Given the description of an element on the screen output the (x, y) to click on. 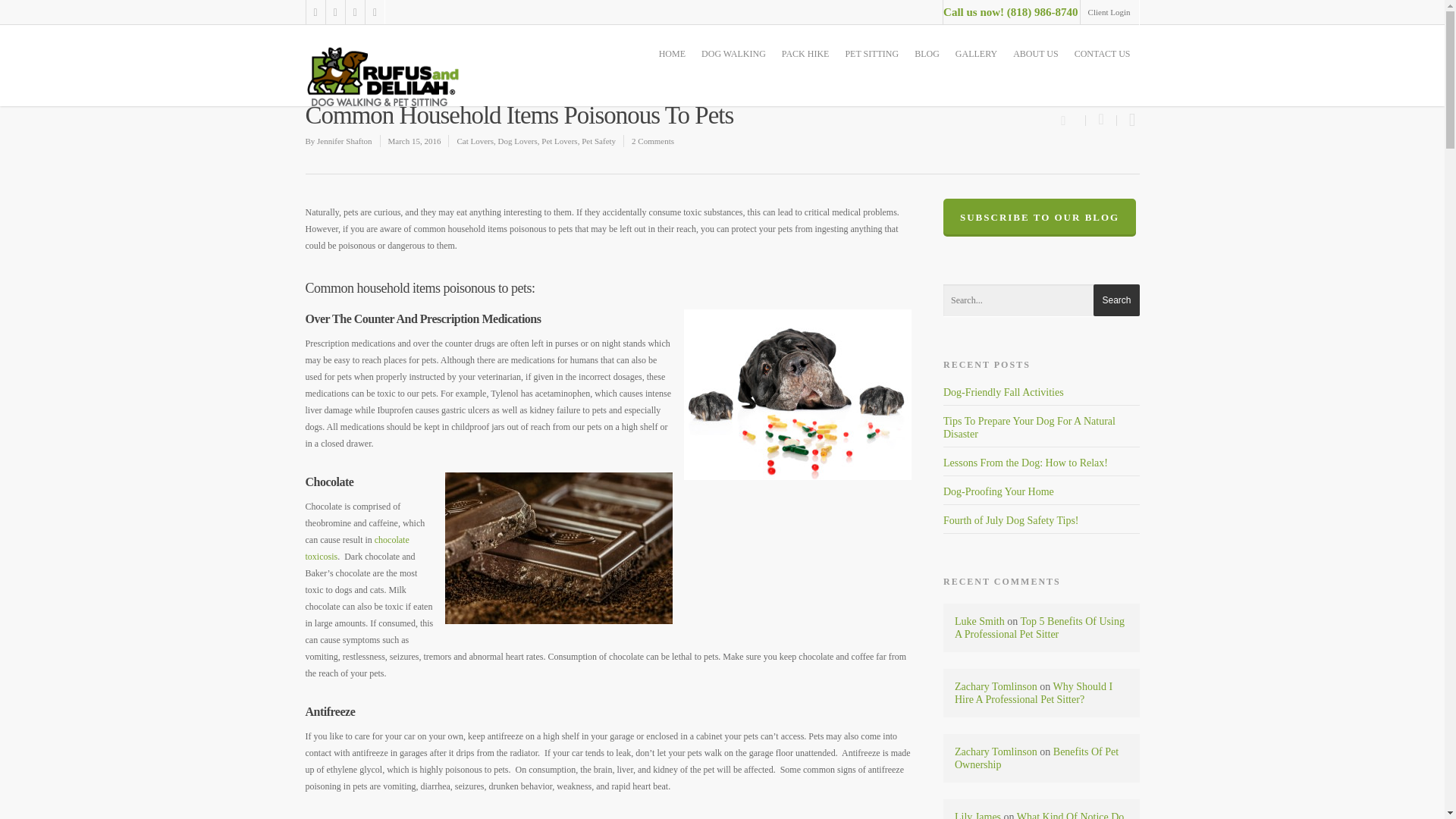
Search (1115, 300)
Cat Lovers (475, 140)
Jennifer Shafton (344, 140)
PET SITTING (871, 53)
Client Login (1109, 12)
GALLERY (975, 53)
PACK HIKE (805, 53)
CONTACT US (1102, 53)
Dog Lovers (517, 140)
DOG WALKING (733, 53)
